Given the description of an element on the screen output the (x, y) to click on. 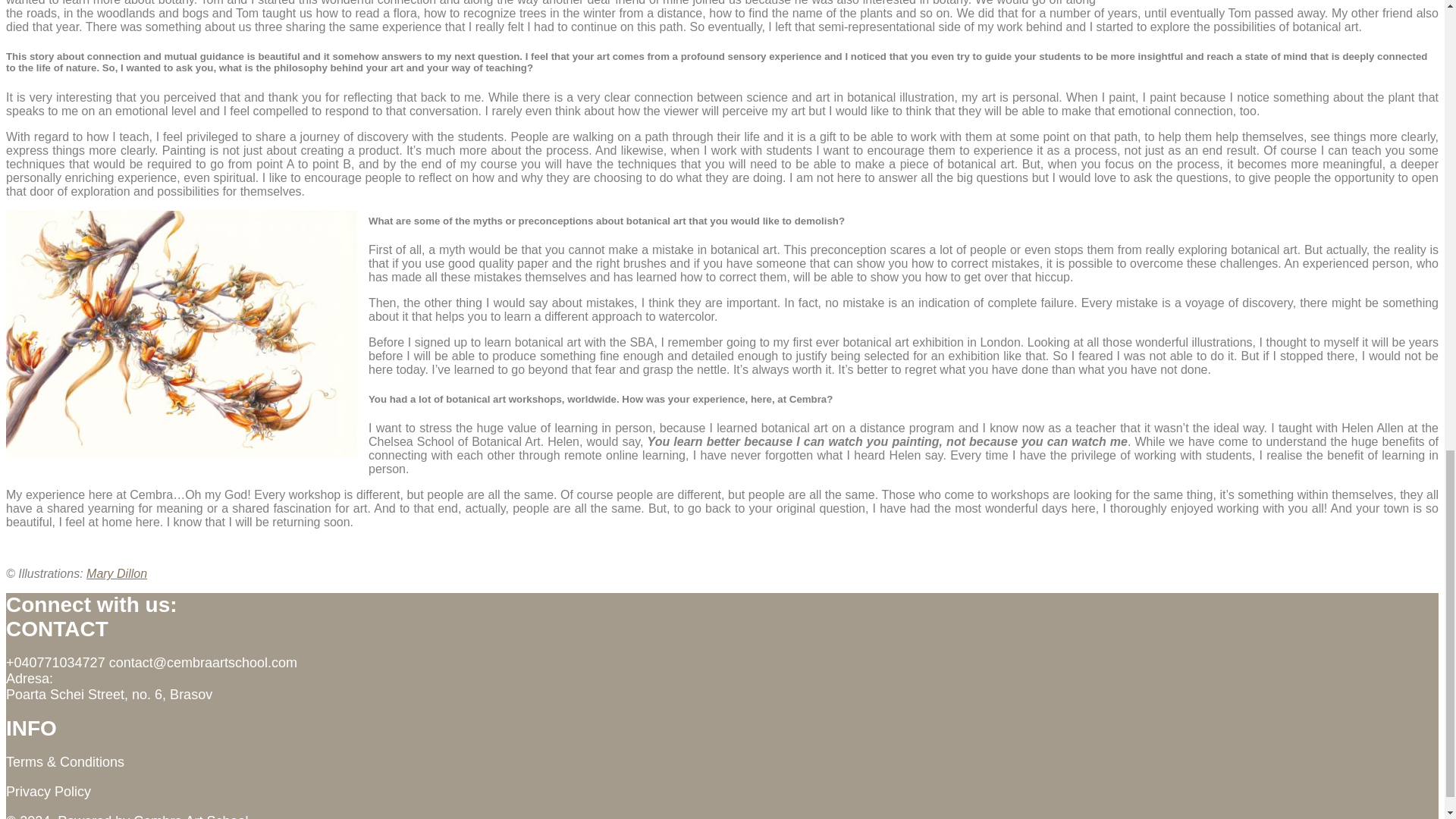
Mary Dillon (116, 573)
Privacy Policy (47, 791)
